Given the description of an element on the screen output the (x, y) to click on. 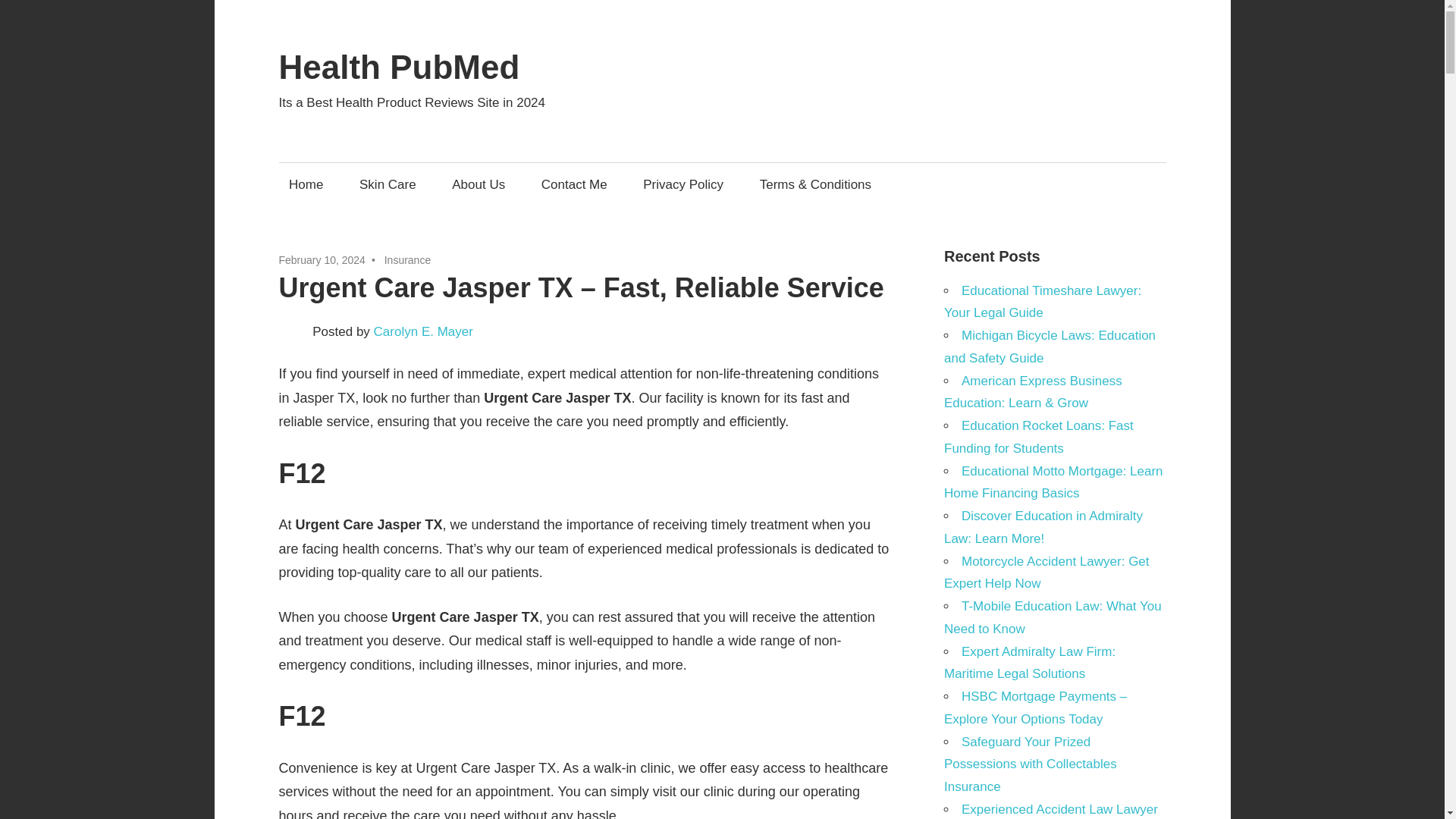
Skin Care (387, 184)
February 10, 2024 (322, 259)
Home (306, 184)
Expert Admiralty Law Firm: Maritime Legal Solutions (1029, 662)
T-Mobile Education Law: What You Need to Know (1052, 617)
View all posts by Carolyn E. Mayer (423, 331)
Motorcycle Accident Lawyer: Get Expert Help Now (1046, 572)
Educational Timeshare Lawyer: Your Legal Guide (1042, 302)
Experienced Accident Law Lawyer for Personal Injury Cases (1050, 810)
Educational Motto Mortgage: Learn Home Financing Basics (1053, 482)
